Given the description of an element on the screen output the (x, y) to click on. 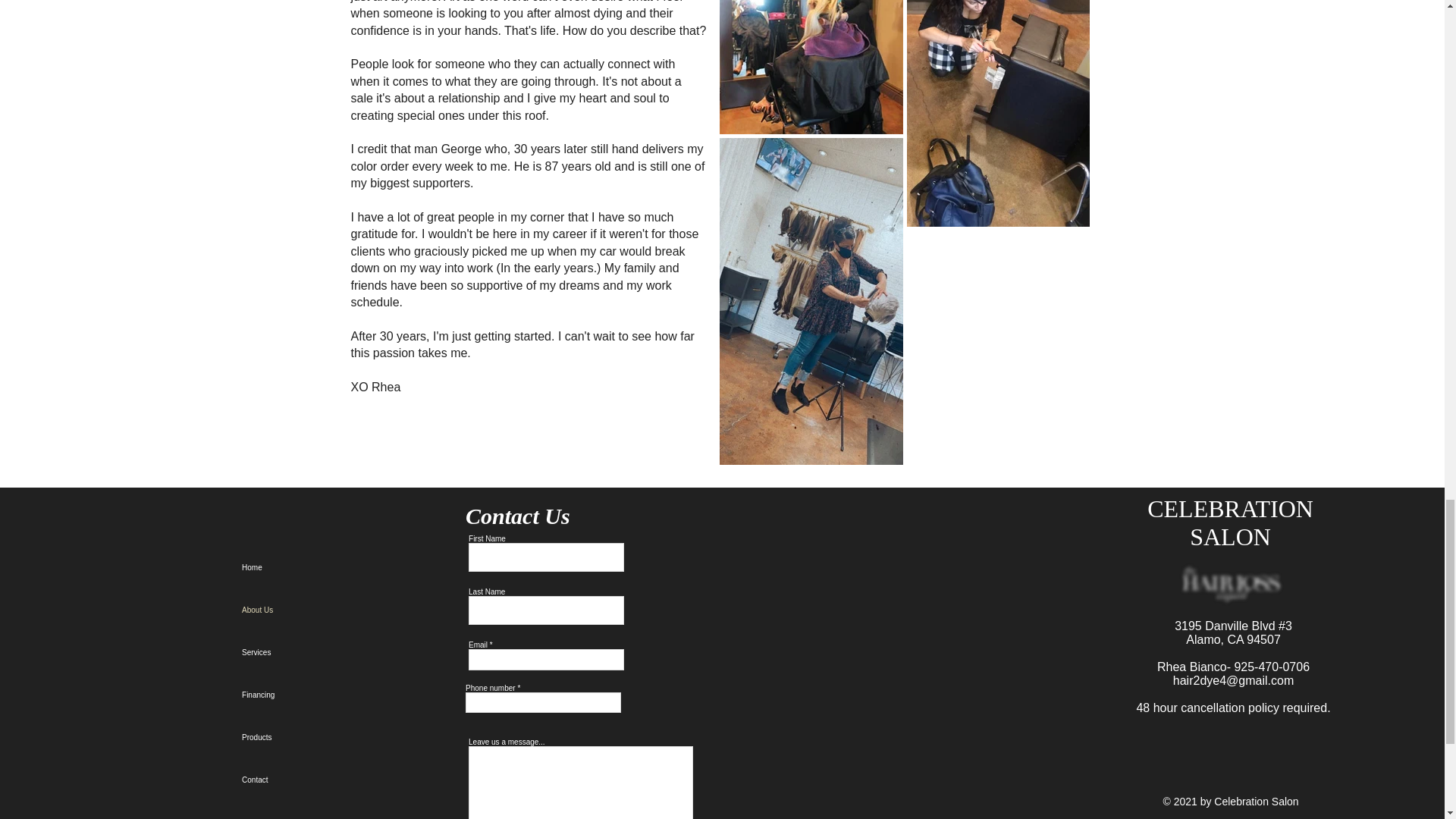
Services (311, 652)
About Us (311, 609)
Financing (311, 695)
Contact (311, 780)
CELEBRATION SALON (1230, 522)
Home (311, 567)
Products (311, 737)
